Given the description of an element on the screen output the (x, y) to click on. 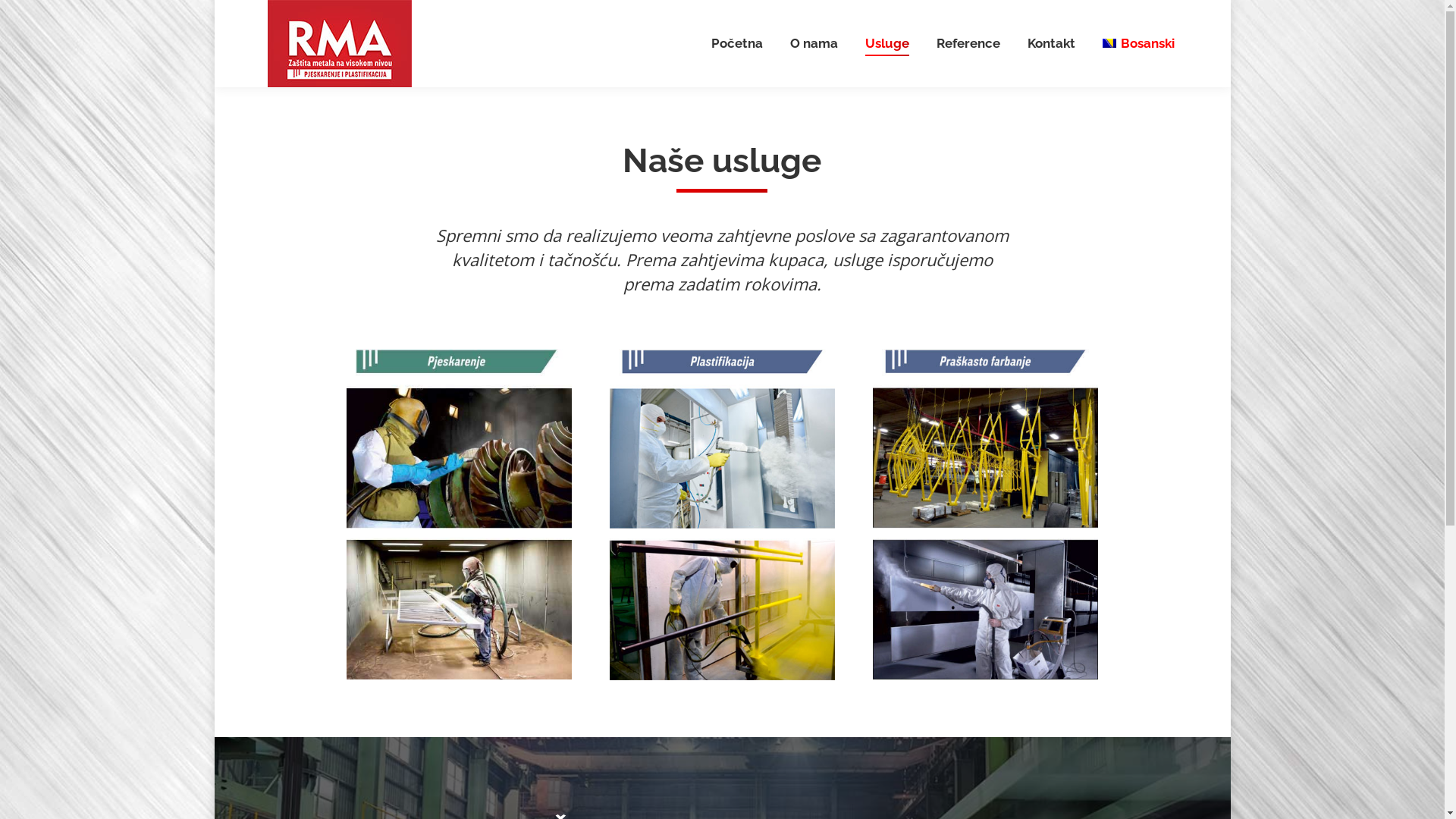
Kontakt Element type: text (1051, 43)
Usluge Element type: text (887, 43)
O nama Element type: text (813, 43)
Bosanski Element type: hover (1109, 42)
Bosanski Element type: text (1137, 43)
Reference Element type: text (968, 43)
